Given the description of an element on the screen output the (x, y) to click on. 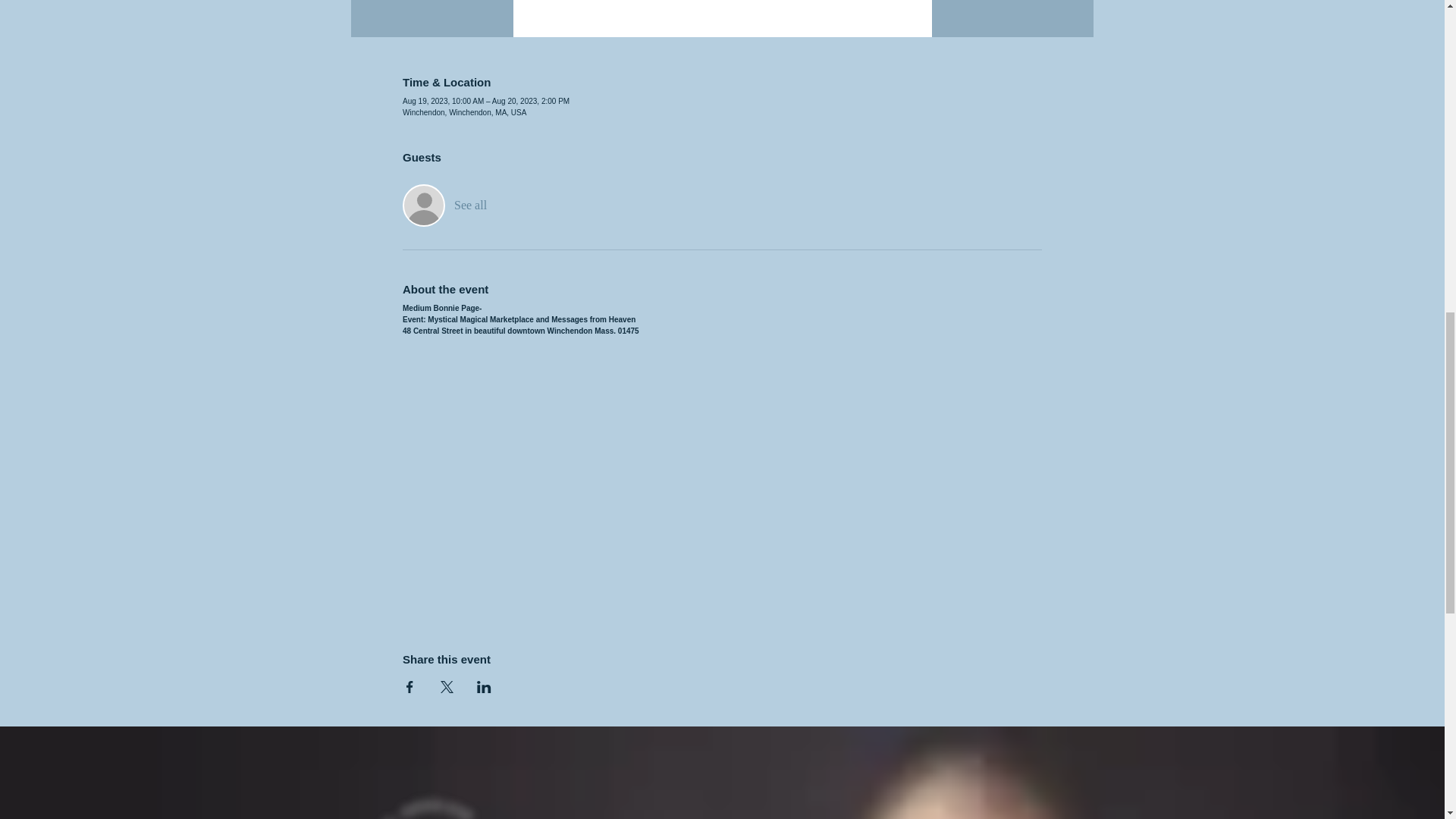
See all (470, 205)
